Given the description of an element on the screen output the (x, y) to click on. 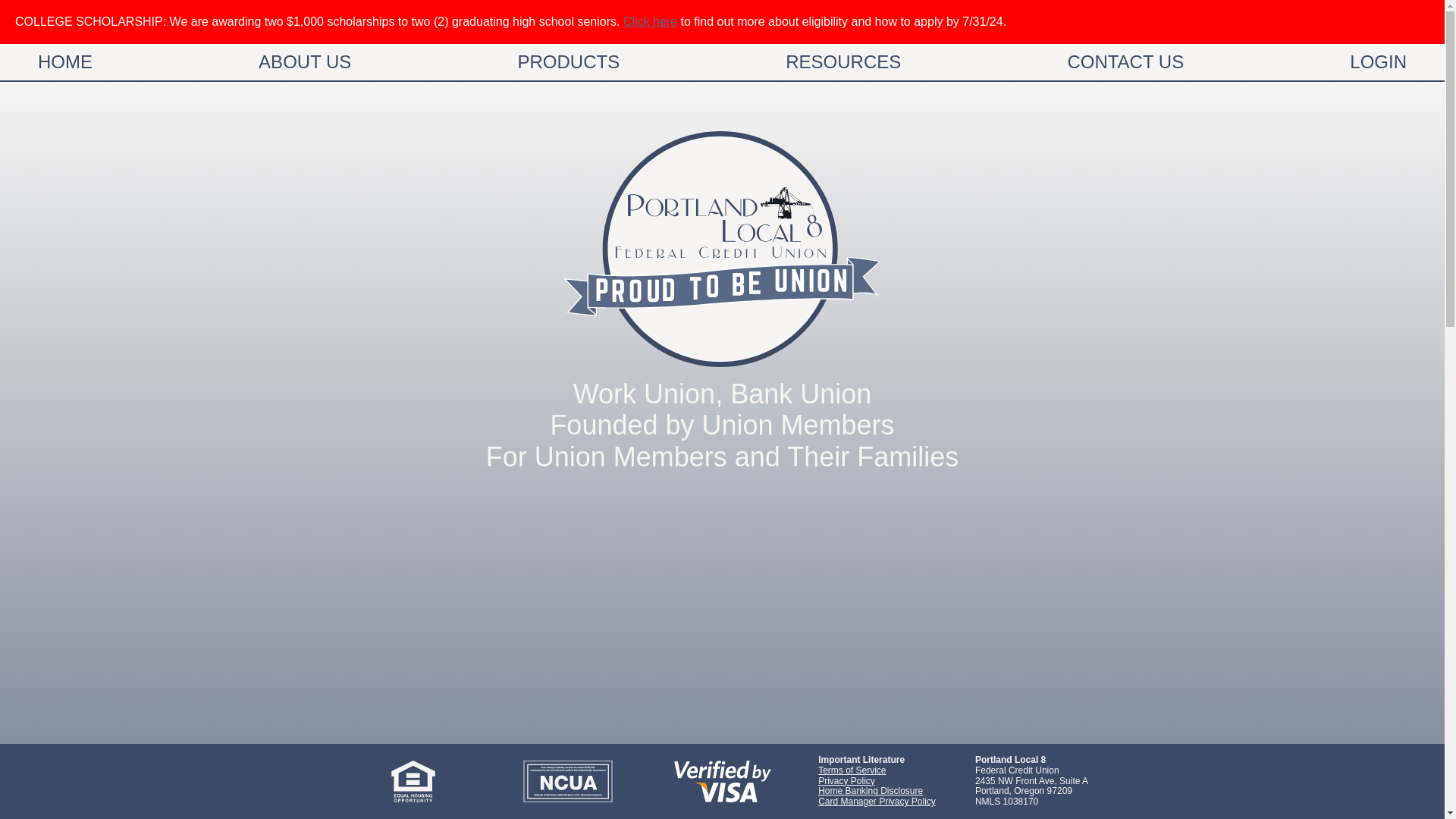
RESOURCES (842, 62)
Privacy Policy (846, 780)
Card Manager Privacy Policy (877, 801)
PRODUCTS (568, 62)
ABOUT US (304, 62)
Terms of Service (851, 769)
CONTACT US (1125, 62)
Click here (650, 21)
Home Banking Disclosure (870, 790)
LOGIN (1377, 62)
HOME (64, 62)
